Given the description of an element on the screen output the (x, y) to click on. 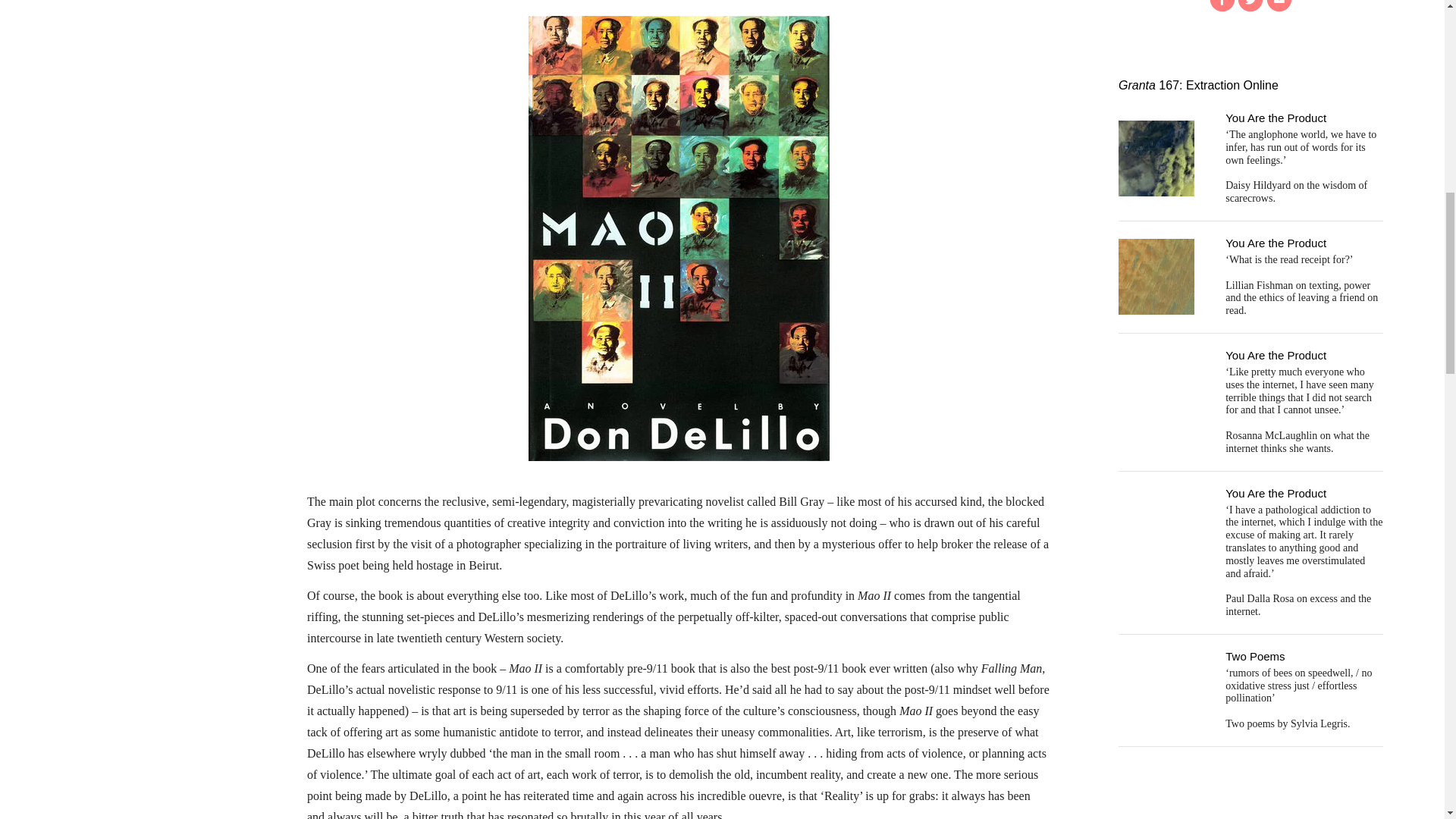
mail-with-circle Created with Sketch. (1279, 6)
facebook-with-circle Created with Sketch. (1221, 6)
twitter-with-circle Created with Sketch. (1250, 6)
